Given the description of an element on the screen output the (x, y) to click on. 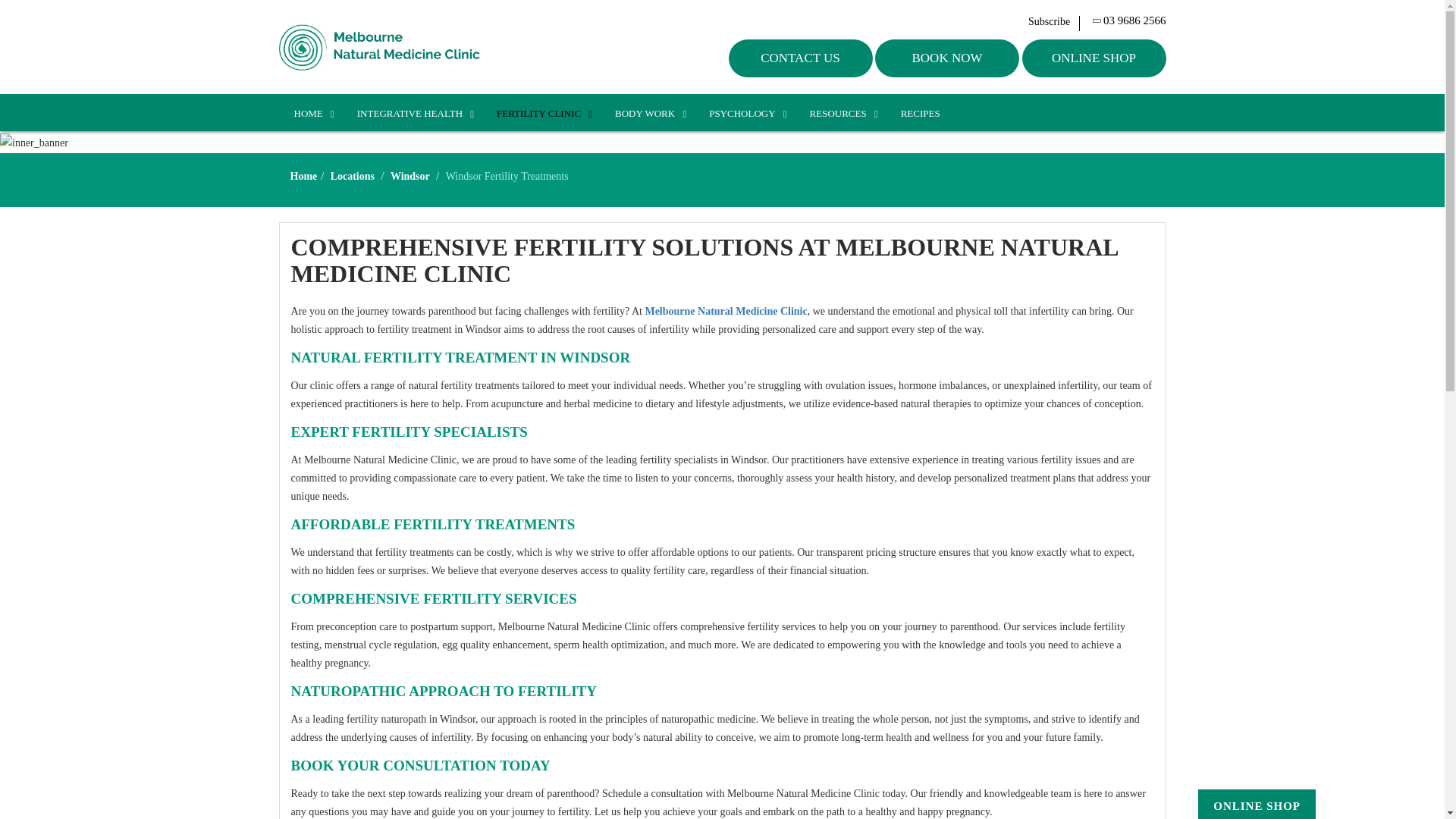
Online Shop (1256, 806)
Subscribe (1053, 21)
ONLINE SHOP (1094, 57)
BOOK NOW (947, 57)
03 9686 2566 (1130, 21)
BODY WORK (646, 113)
INTEGRATIVE HEALTH (411, 113)
Online Shop (1094, 57)
Contact Us (800, 57)
